Given the description of an element on the screen output the (x, y) to click on. 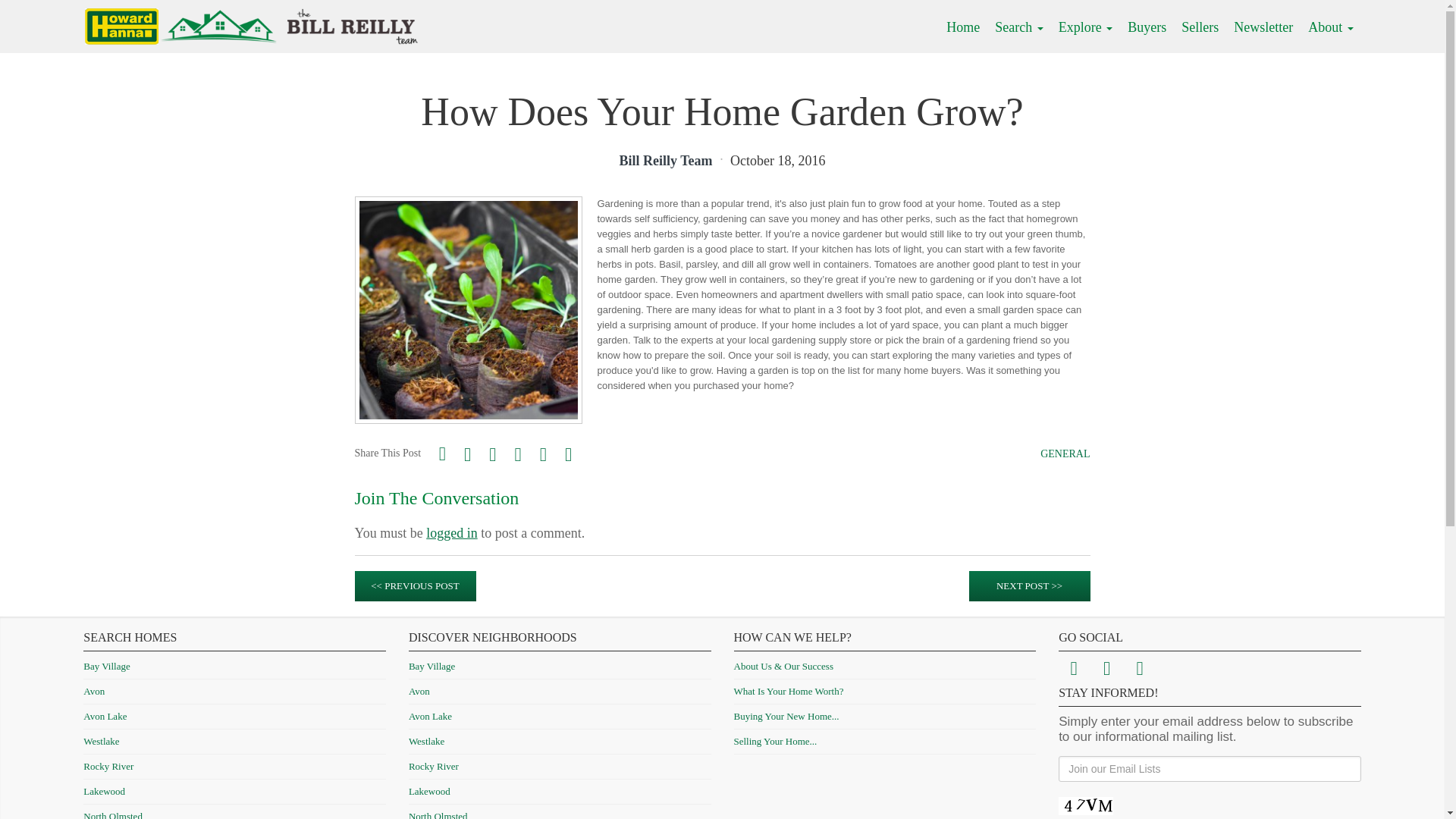
Home (963, 26)
Explore (1085, 26)
About (1330, 26)
Buyers (1146, 26)
Bay Village (431, 665)
logged in (451, 532)
Share on LinkedIn (568, 454)
Bay Village (105, 665)
Westlake (100, 740)
Newsletter (1262, 26)
